Given the description of an element on the screen output the (x, y) to click on. 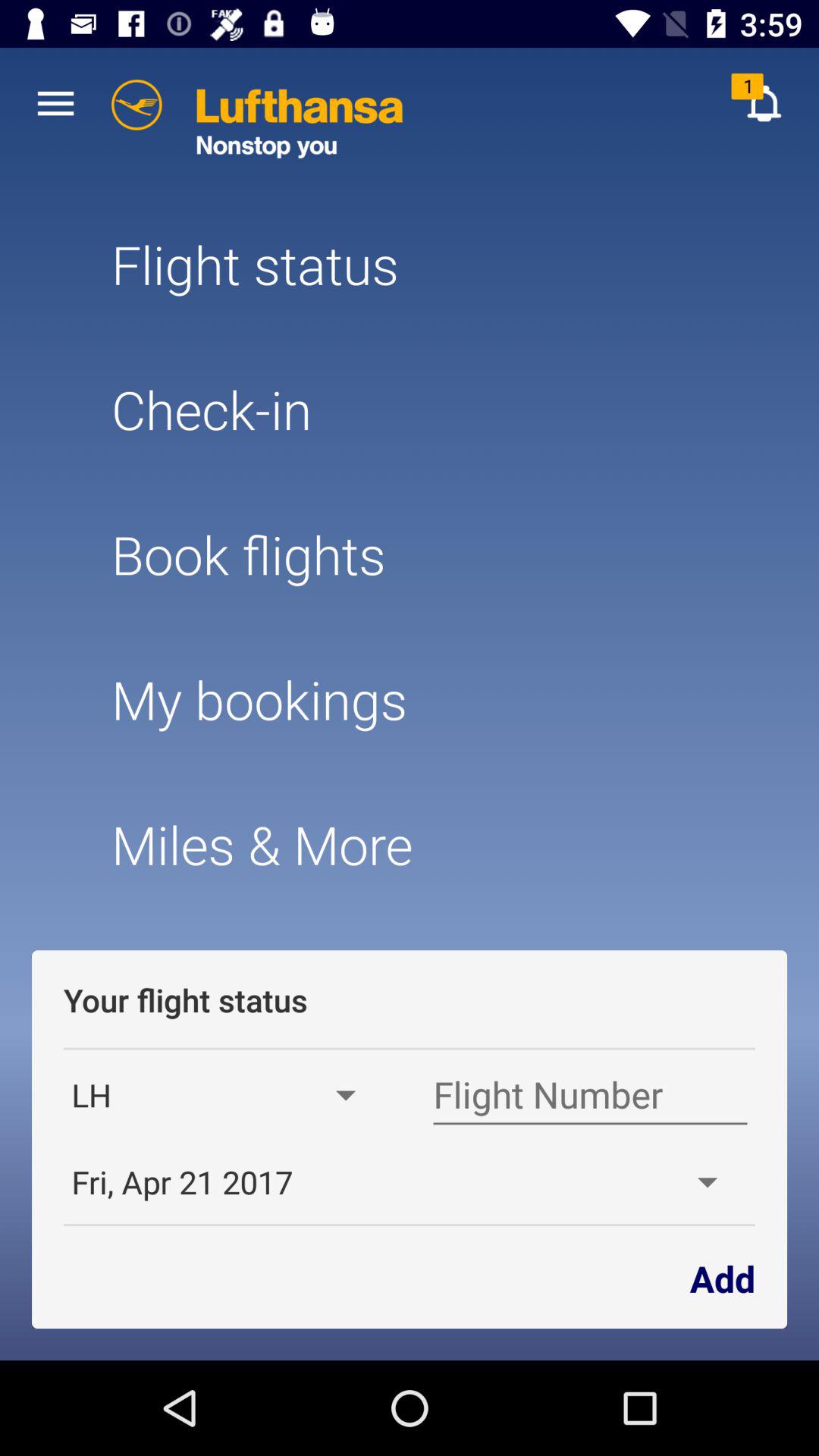
tap check-in (409, 409)
